Given the description of an element on the screen output the (x, y) to click on. 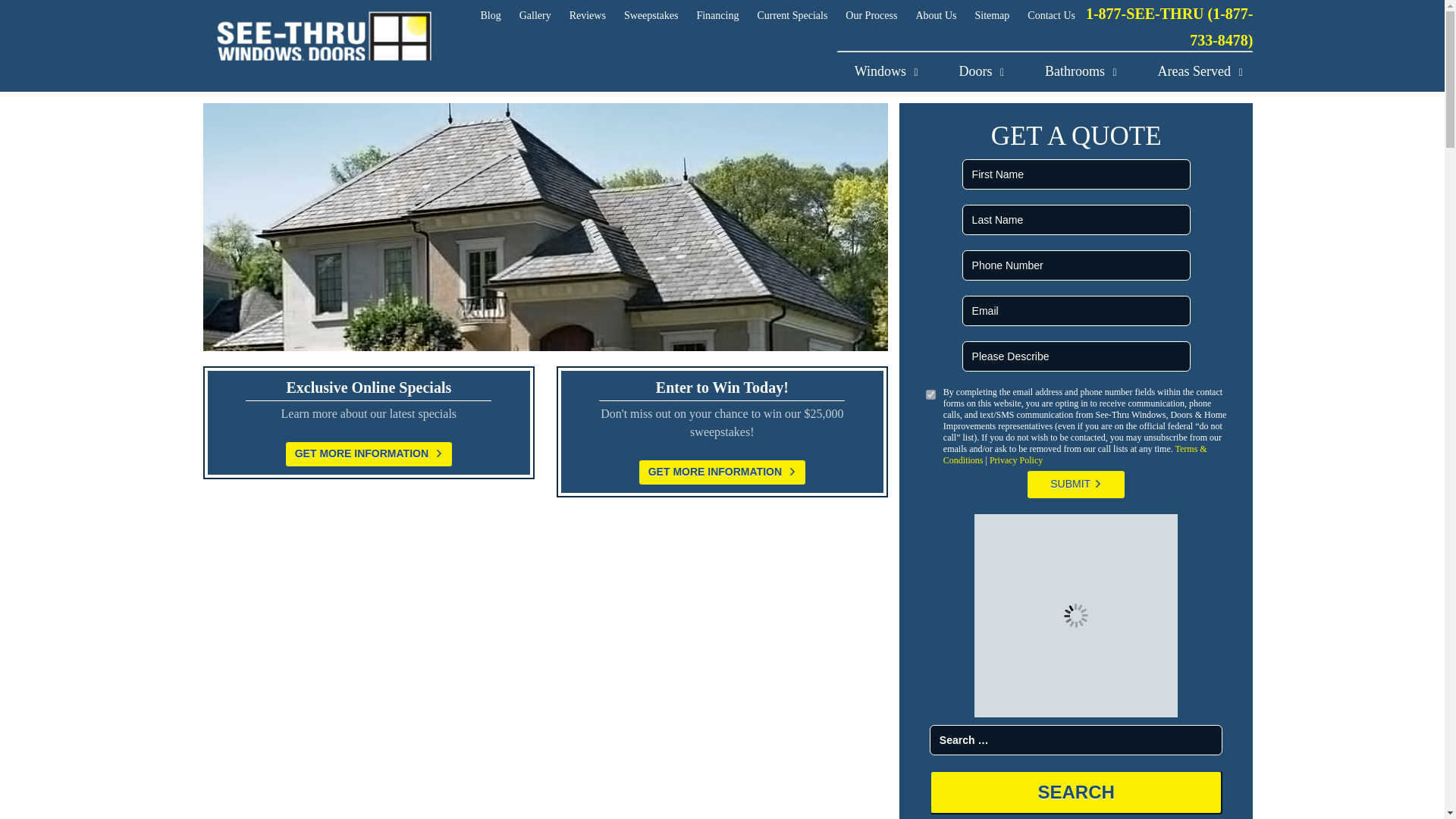
Sweepstakes (651, 15)
 Windows (901, 71)
Current Specials (792, 15)
Financing (716, 15)
Gallery (535, 15)
Reviews (587, 15)
Sitemap (991, 15)
Current Specials (792, 15)
Contact Us (1051, 15)
Bathrooms (1097, 71)
